Given the description of an element on the screen output the (x, y) to click on. 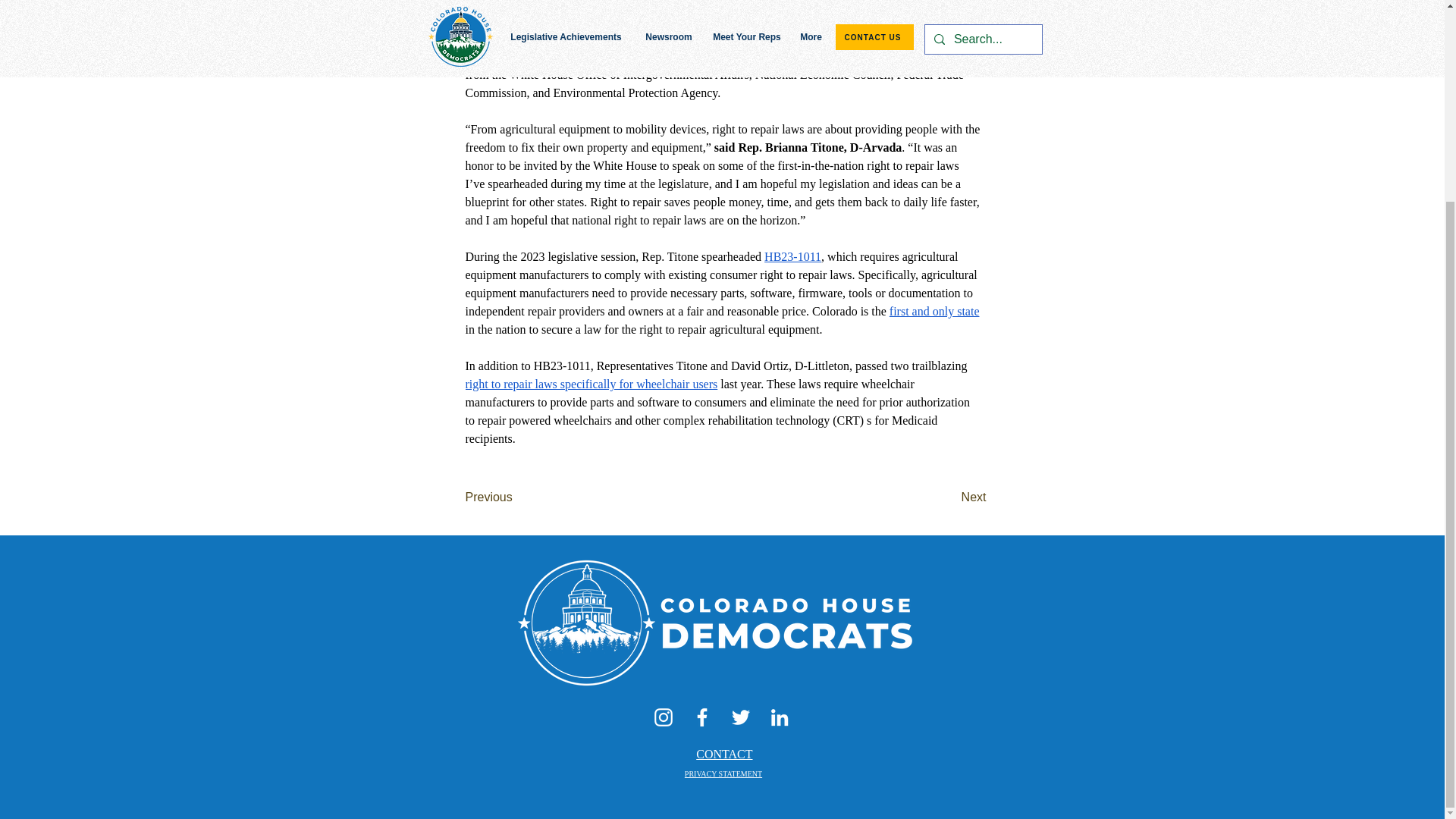
CONTACT (723, 753)
Next (947, 497)
Previous (515, 497)
right to repair laws specifically for wheelchair users (591, 383)
PRIVACY STATEMENT (722, 773)
HB23-1011 (792, 256)
first and only state (934, 310)
